Given the description of an element on the screen output the (x, y) to click on. 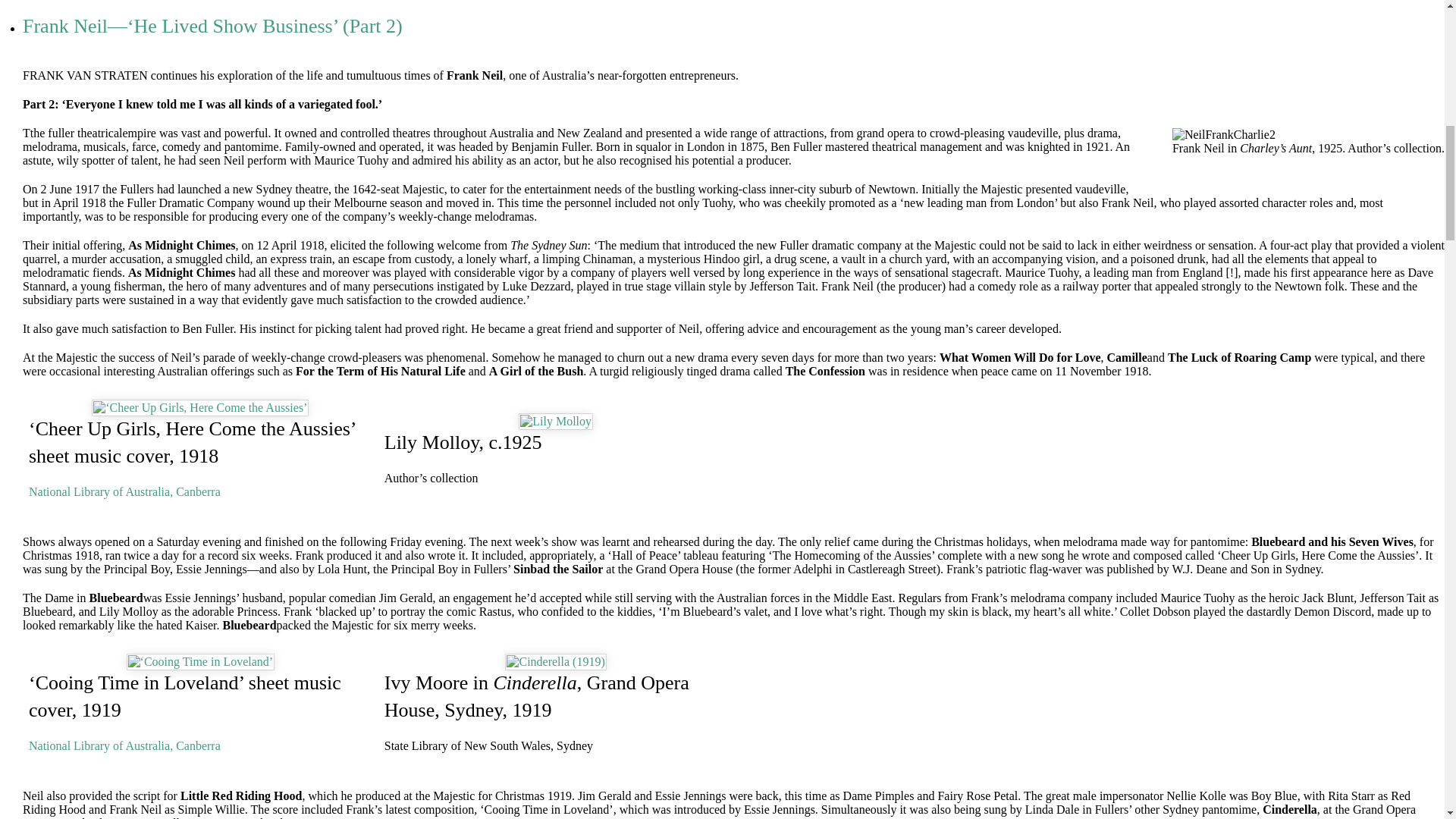
Lily Molloy (555, 420)
